Given the description of an element on the screen output the (x, y) to click on. 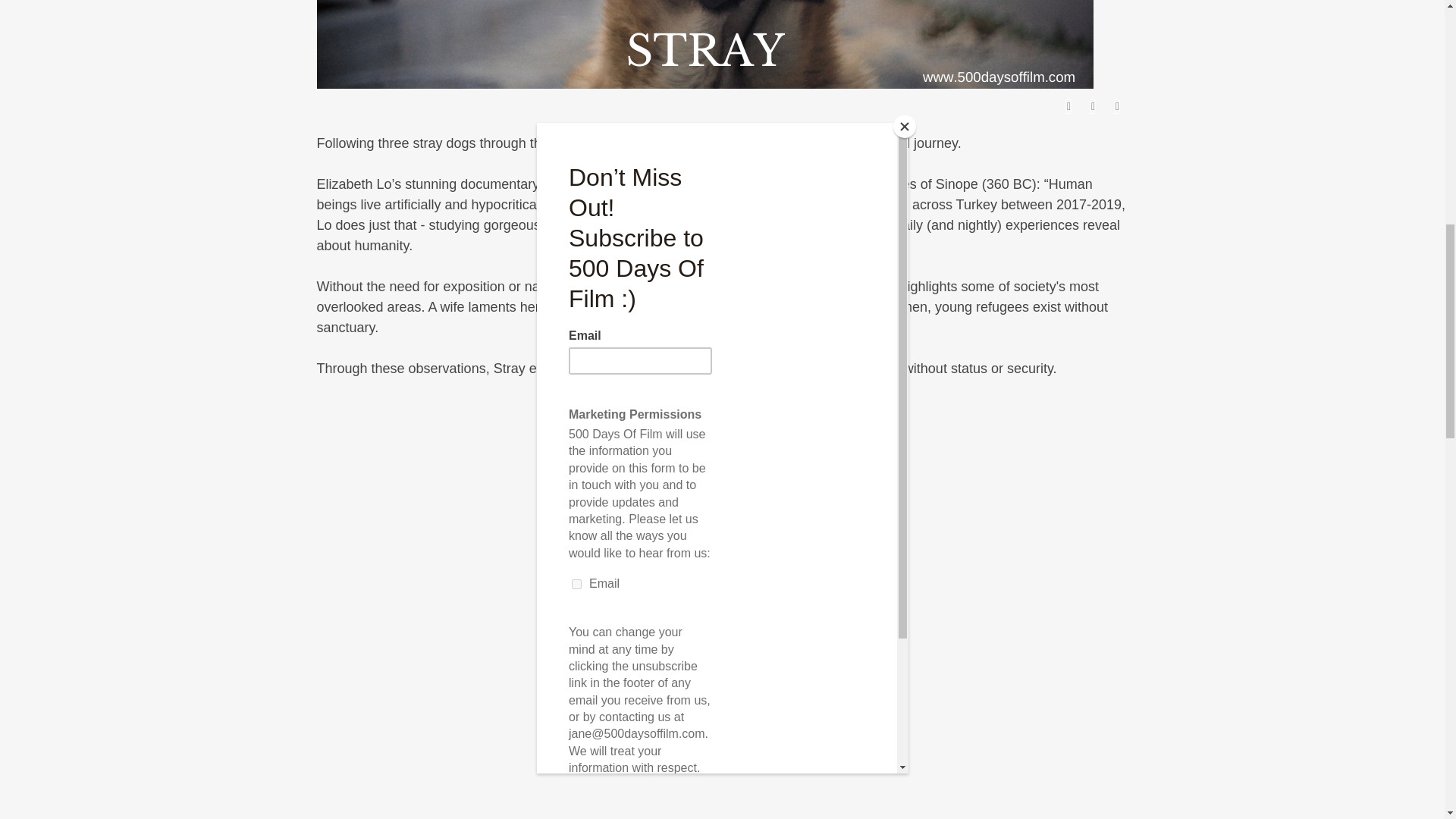
Email (1117, 106)
Facebook (1069, 106)
Twitter (1093, 106)
